Given the description of an element on the screen output the (x, y) to click on. 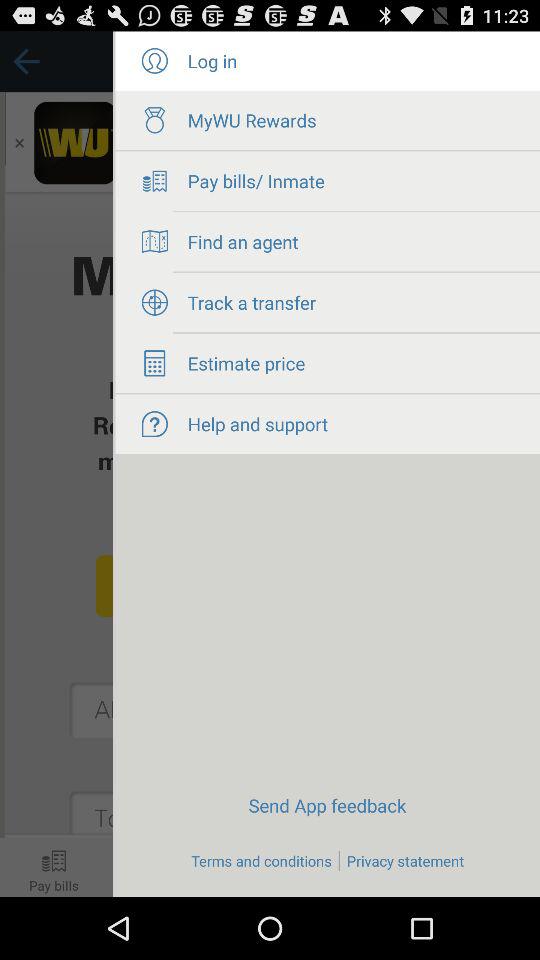
log in (154, 61)
